Given the description of an element on the screen output the (x, y) to click on. 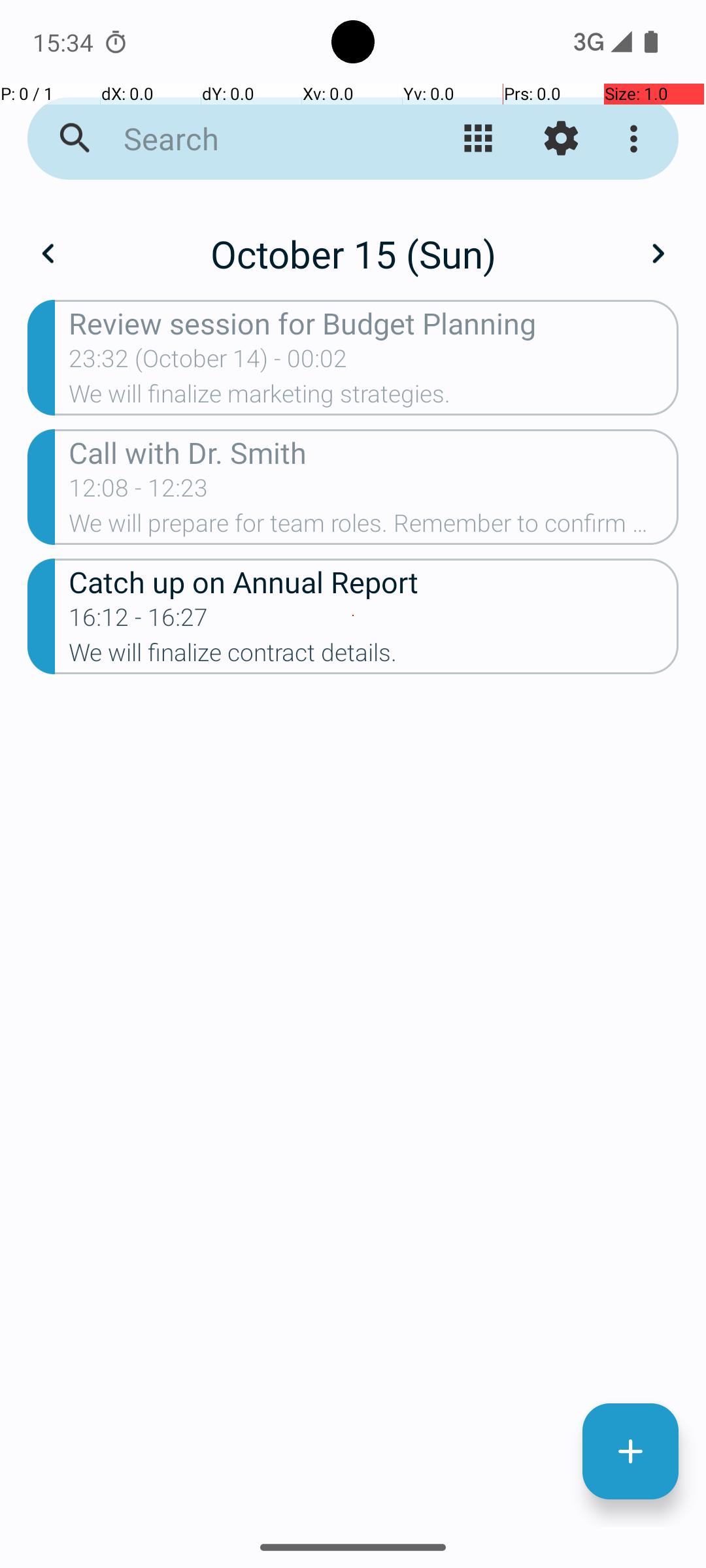
23:32 (October 14) - 00:02 Element type: android.widget.TextView (207, 362)
We will finalize marketing strategies. Element type: android.widget.TextView (373, 397)
12:08 - 12:23 Element type: android.widget.TextView (137, 491)
We will prepare for team roles. Remember to confirm attendance. Element type: android.widget.TextView (373, 526)
16:12 - 16:27 Element type: android.widget.TextView (137, 620)
We will finalize contract details. Element type: android.widget.TextView (373, 656)
